Given the description of an element on the screen output the (x, y) to click on. 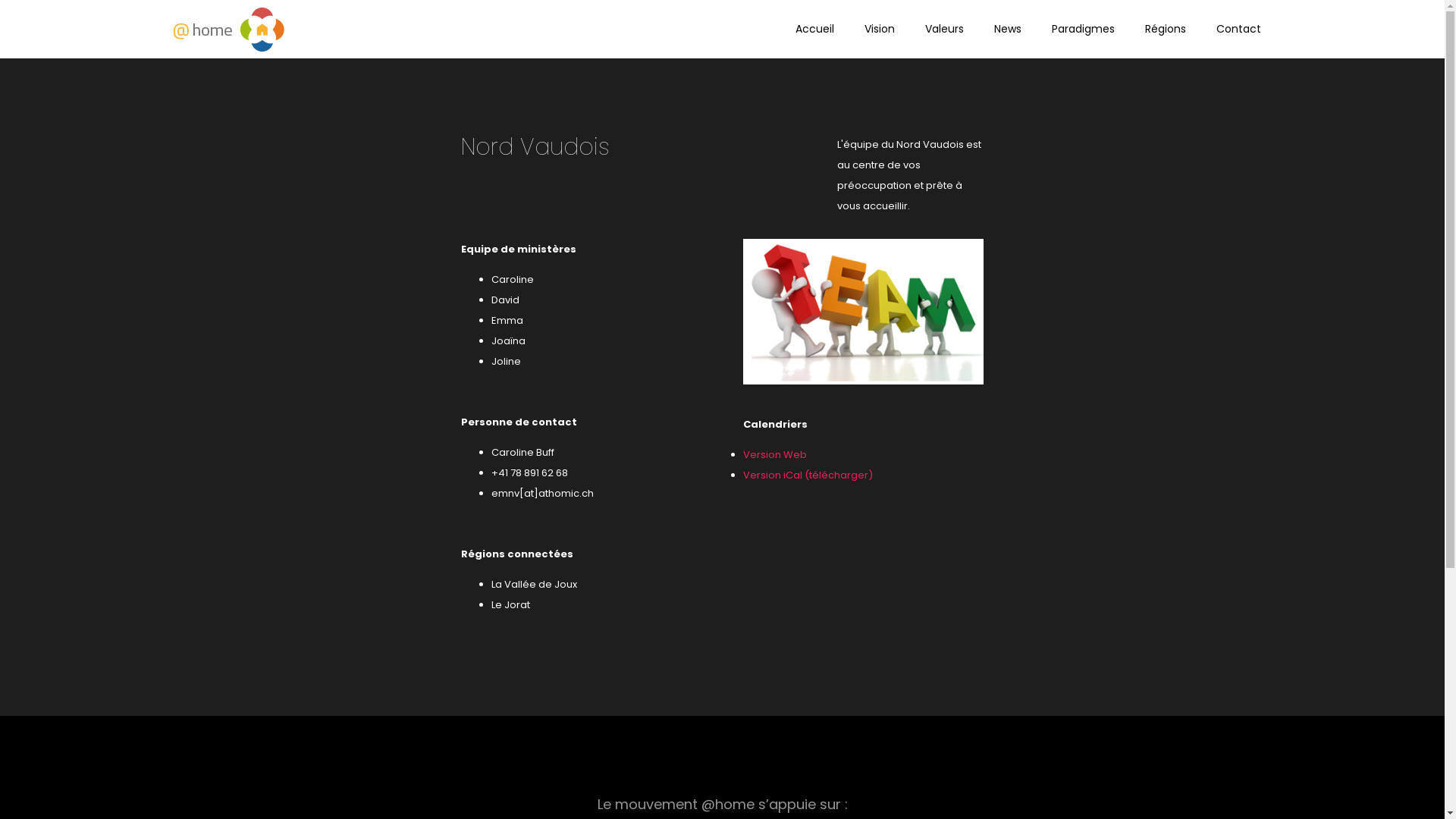
Paradigmes Element type: text (1083, 29)
Contact Element type: text (1237, 29)
News Element type: text (1007, 29)
Version Web Element type: text (774, 454)
Accueil Element type: text (814, 29)
Valeurs Element type: text (943, 29)
Vision Element type: text (878, 29)
